Given the description of an element on the screen output the (x, y) to click on. 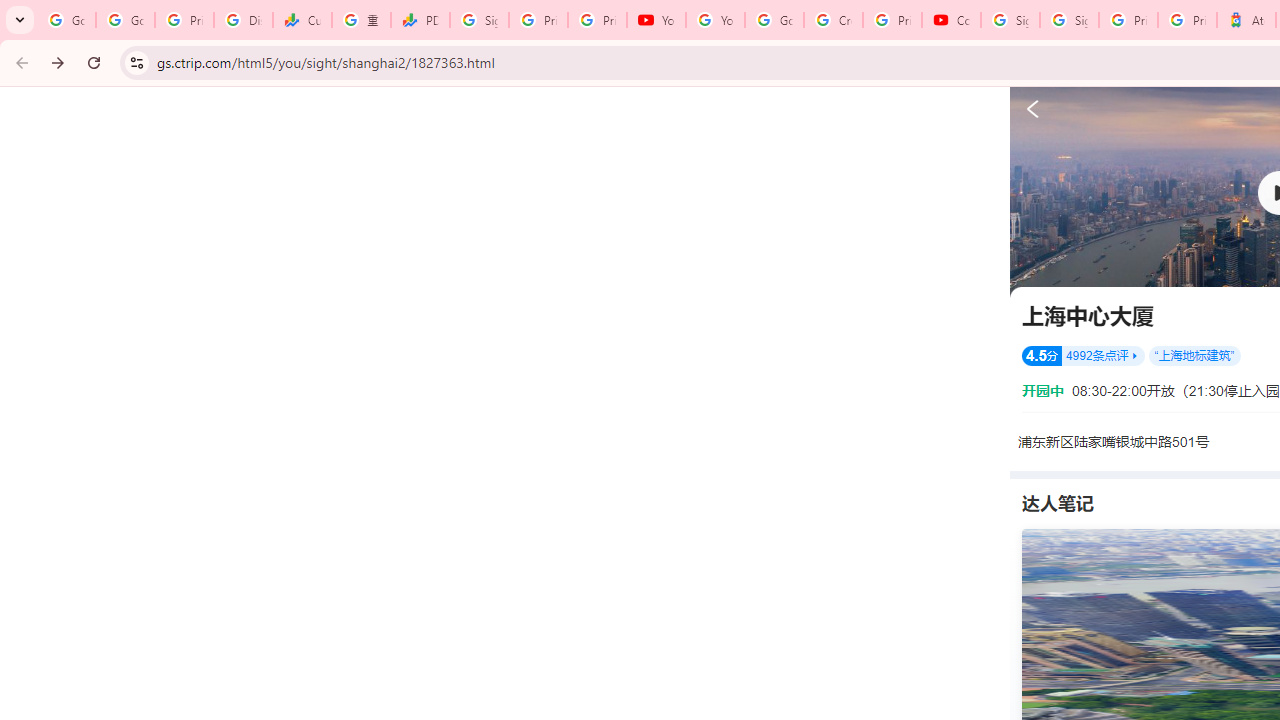
Google Account Help (774, 20)
Privacy Checkup (597, 20)
Google Workspace Admin Community (66, 20)
PDD Holdings Inc - ADR (PDD) Price & News - Google Finance (420, 20)
YouTube (656, 20)
